Given the description of an element on the screen output the (x, y) to click on. 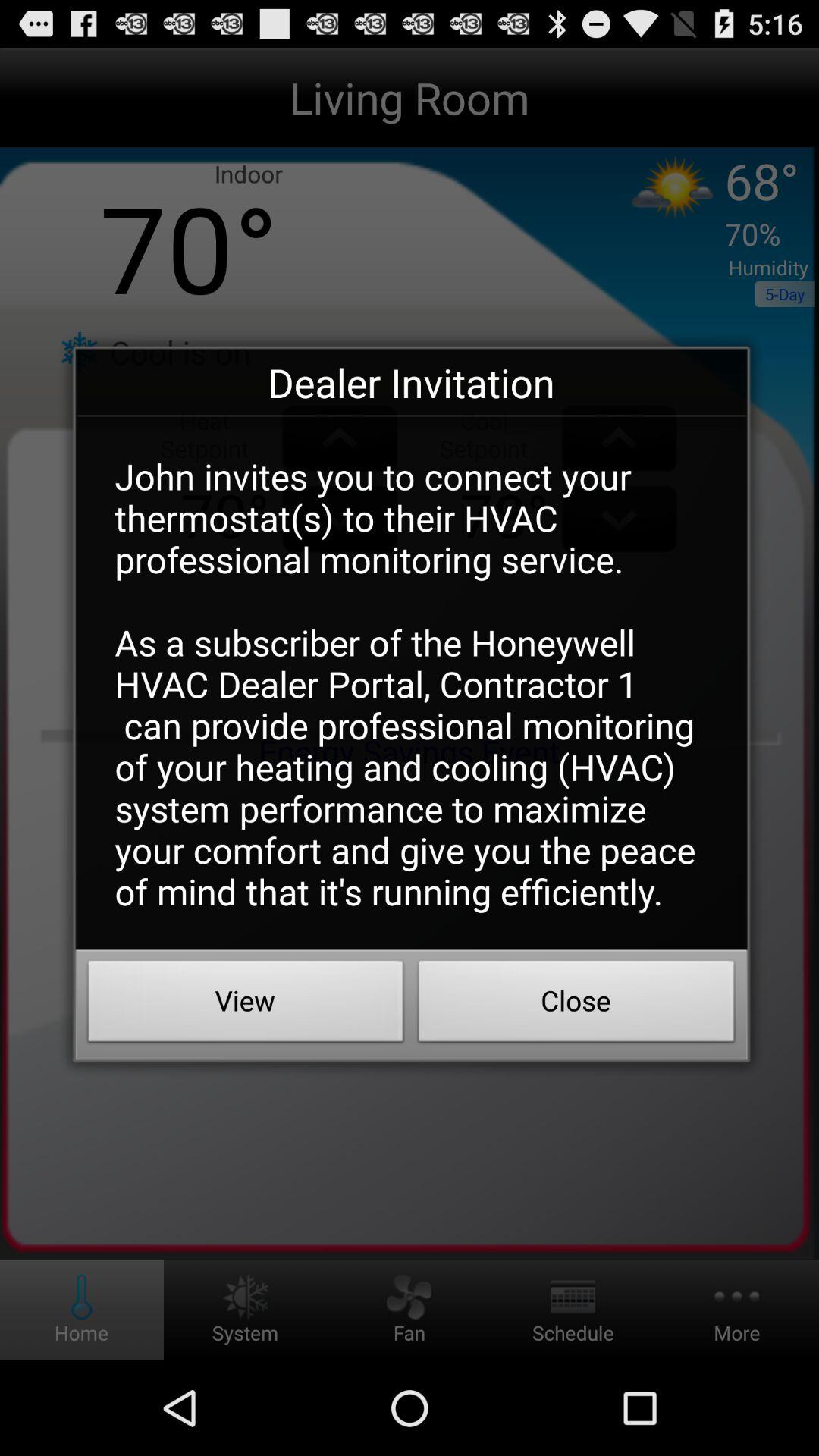
tap the icon to the right of view button (576, 1005)
